Given the description of an element on the screen output the (x, y) to click on. 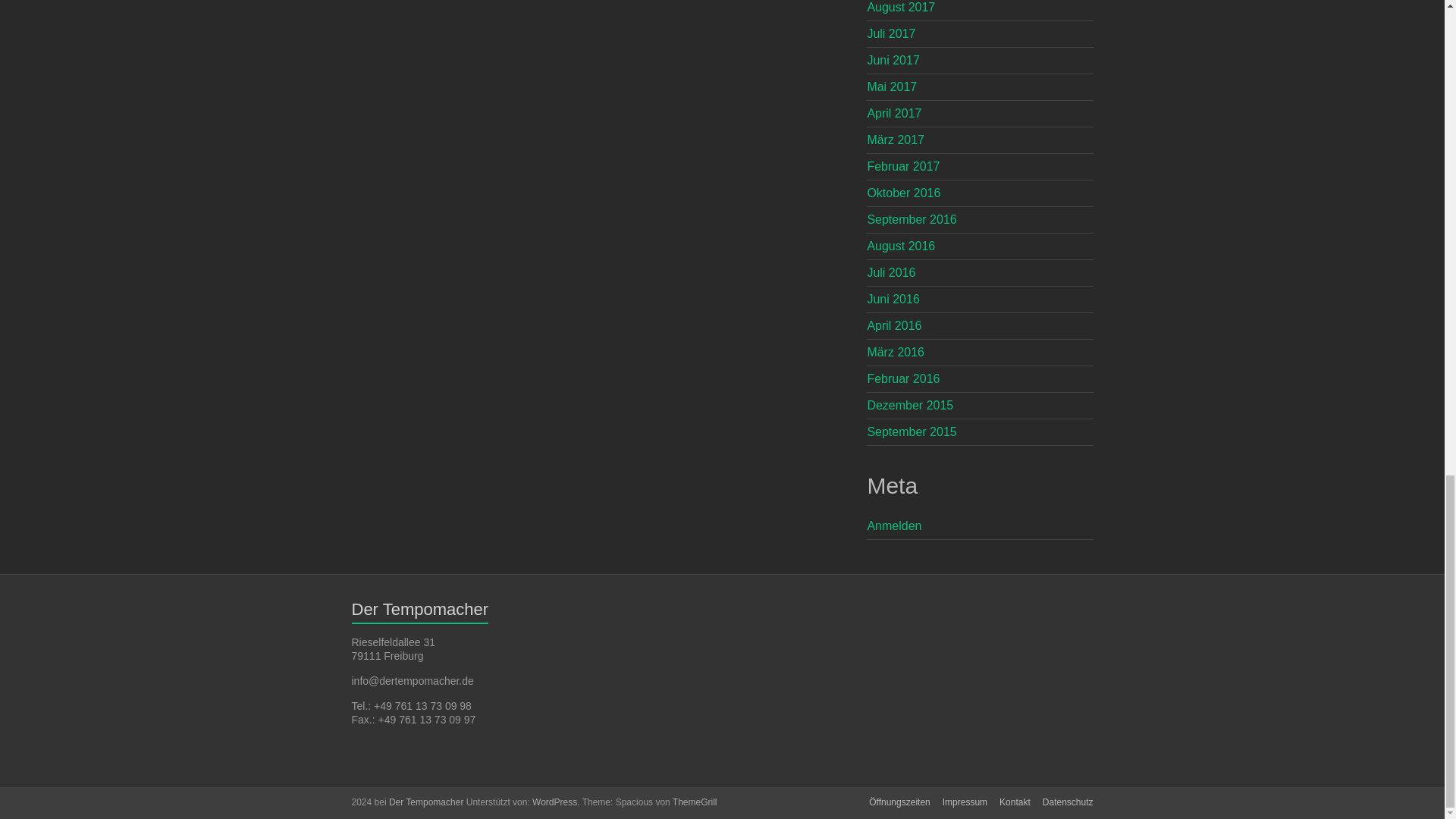
WordPress (554, 801)
ThemeGrill (694, 801)
Der Tempomacher (425, 801)
